Given the description of an element on the screen output the (x, y) to click on. 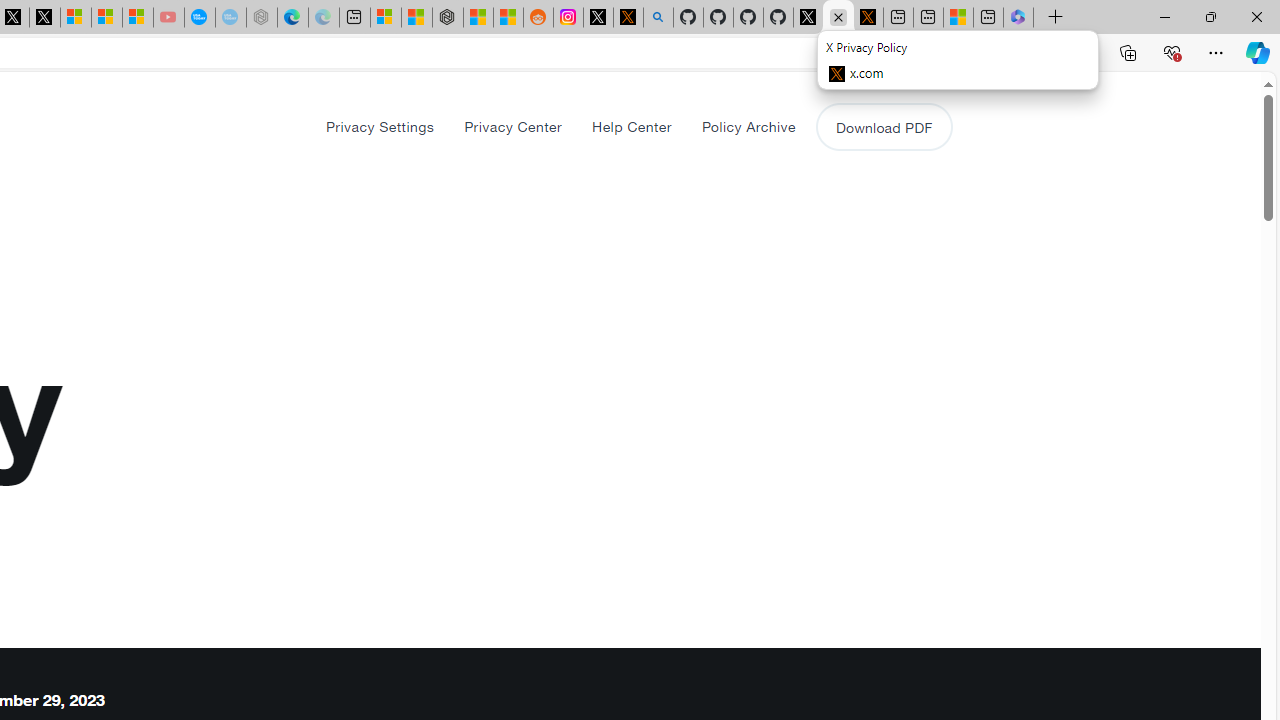
Login | Microsoft 365 (1017, 17)
X Privacy Policy (868, 17)
Enter Immersive Reader (F9) (991, 53)
Privacy Center (512, 126)
Help Center (631, 126)
github - Search (658, 17)
